Given the description of an element on the screen output the (x, y) to click on. 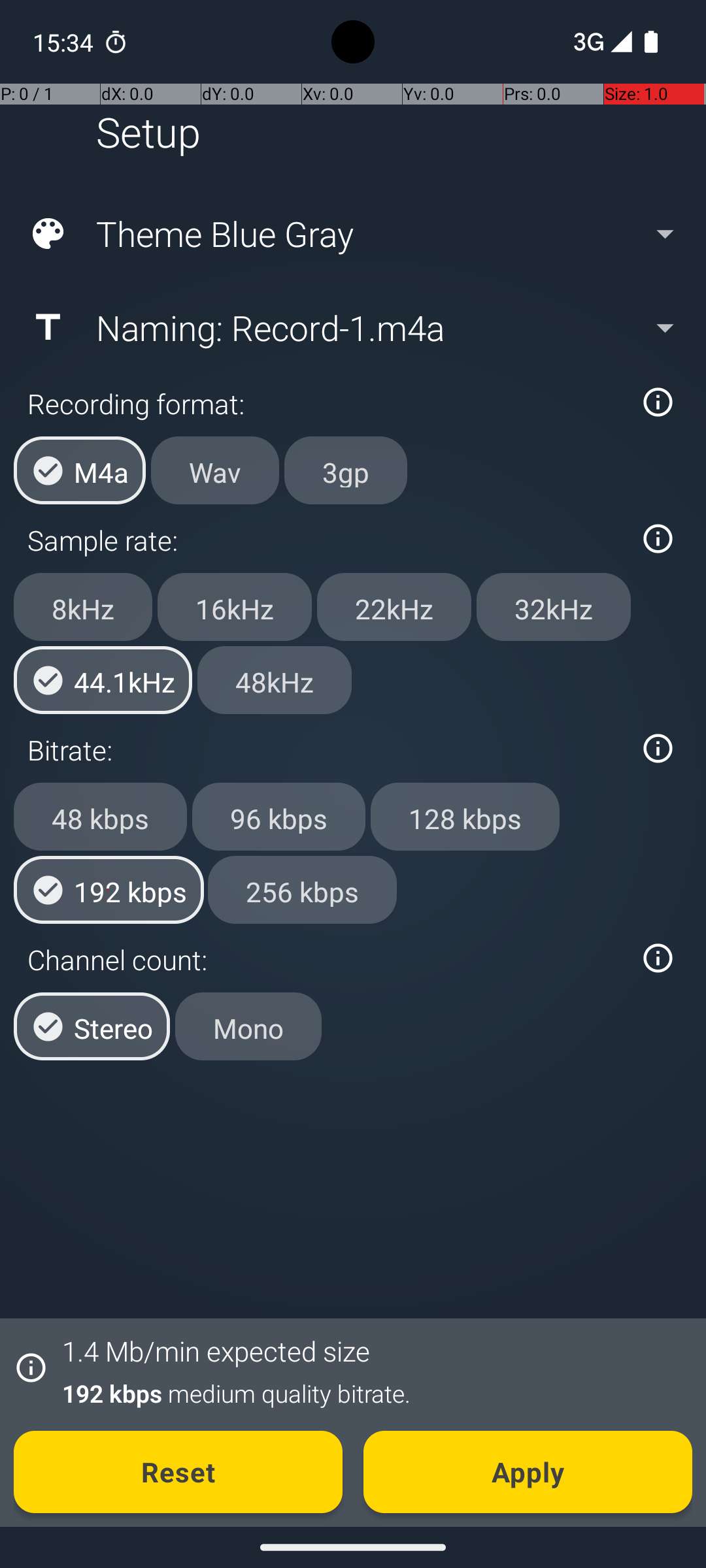
1.4 Mb/min expected size Element type: android.widget.TextView (215, 1350)
192 kbps medium quality bitrate. Element type: android.widget.TextView (370, 1392)
3G Element type: android.widget.ImageView (587, 41)
